Given the description of an element on the screen output the (x, y) to click on. 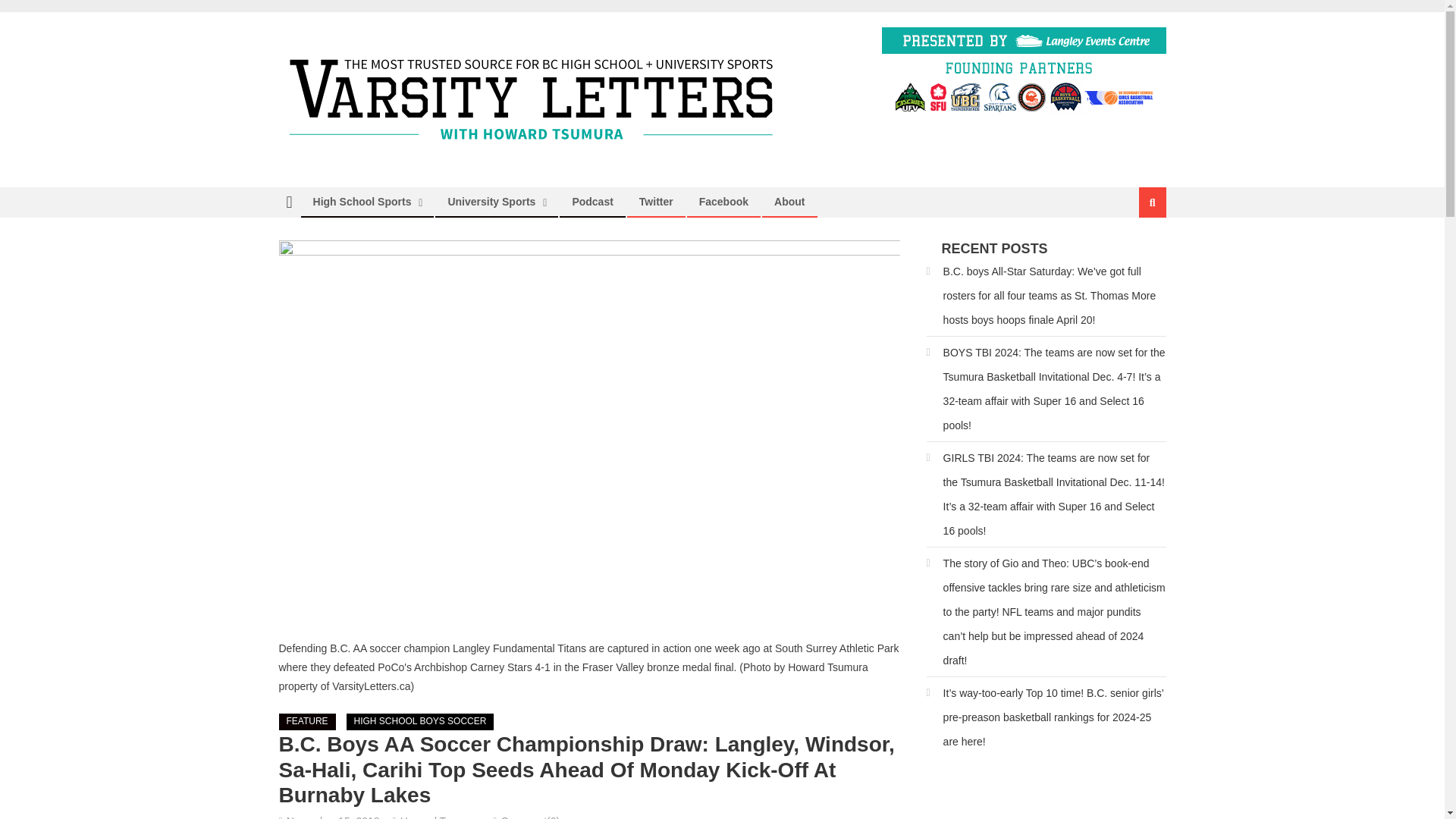
University Sports (491, 201)
Facebook (723, 201)
Twitter (655, 201)
About (788, 201)
High School Sports (362, 201)
Podcast (592, 201)
